Given the description of an element on the screen output the (x, y) to click on. 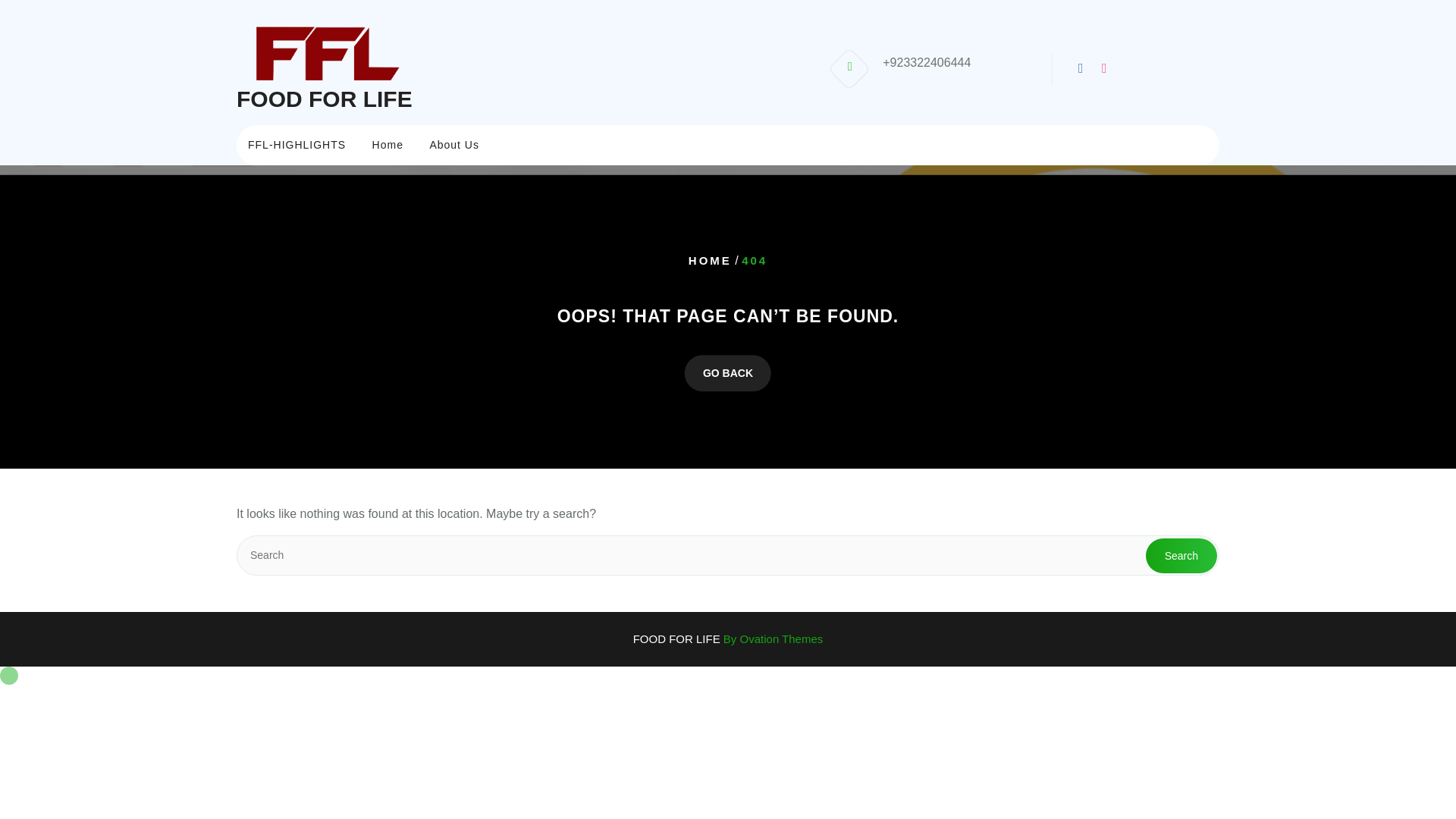
About Us (453, 144)
FOOD FOR LIFE (323, 98)
Home (387, 144)
GO BACK (727, 372)
HOME (710, 260)
FOOD FOR LIFE By Ovation Themes (728, 638)
FFL-HIGHLIGHTS (295, 144)
Search (1181, 555)
